Given the description of an element on the screen output the (x, y) to click on. 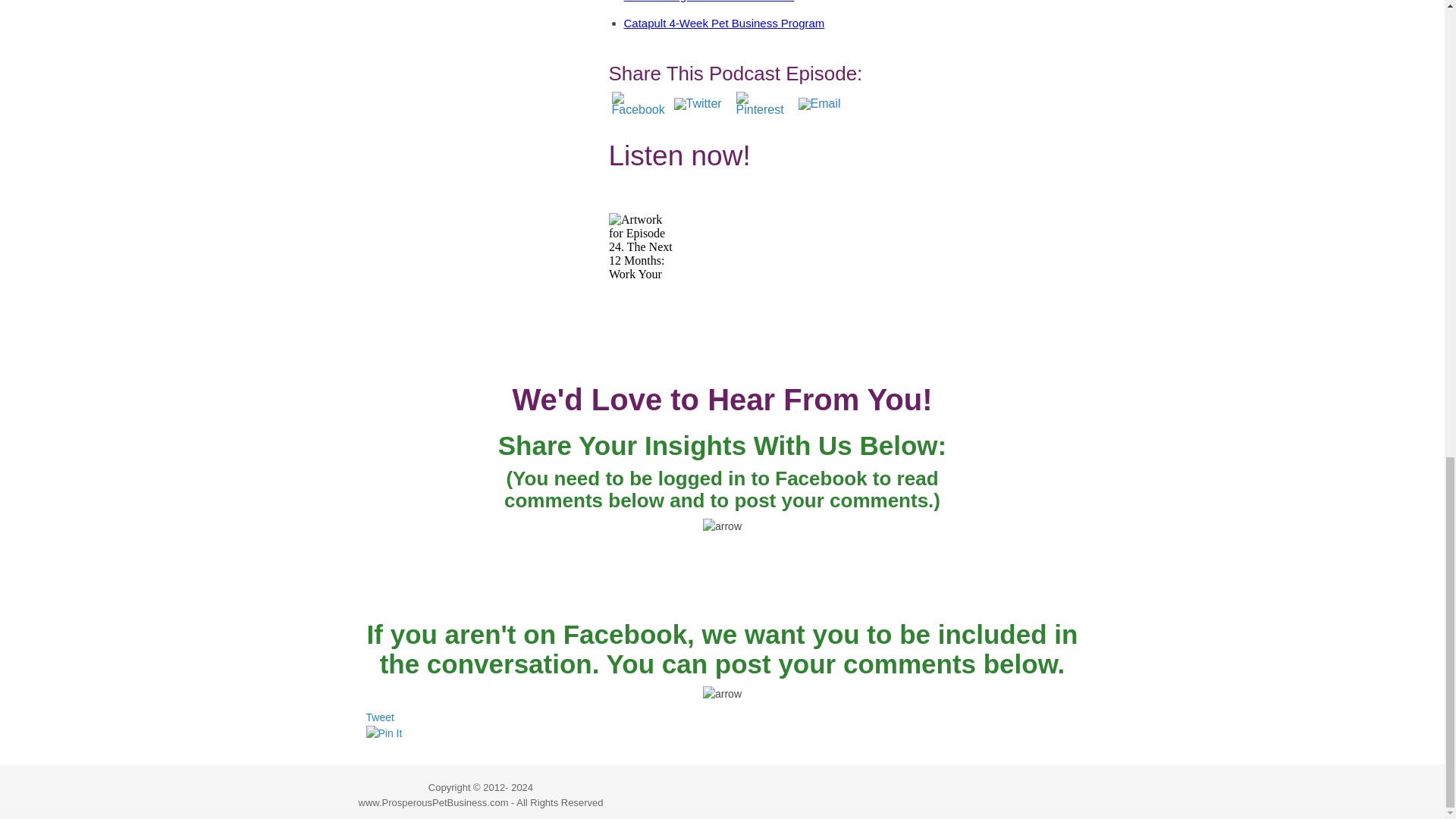
Tweet (379, 717)
Twitter (700, 104)
Goal Setting Workbook Download (708, 1)
Facebook (638, 104)
Catapult 4-Week Pet Business Program (723, 22)
Pinterest (763, 104)
Pin It (383, 733)
Email (825, 104)
